Given the description of an element on the screen output the (x, y) to click on. 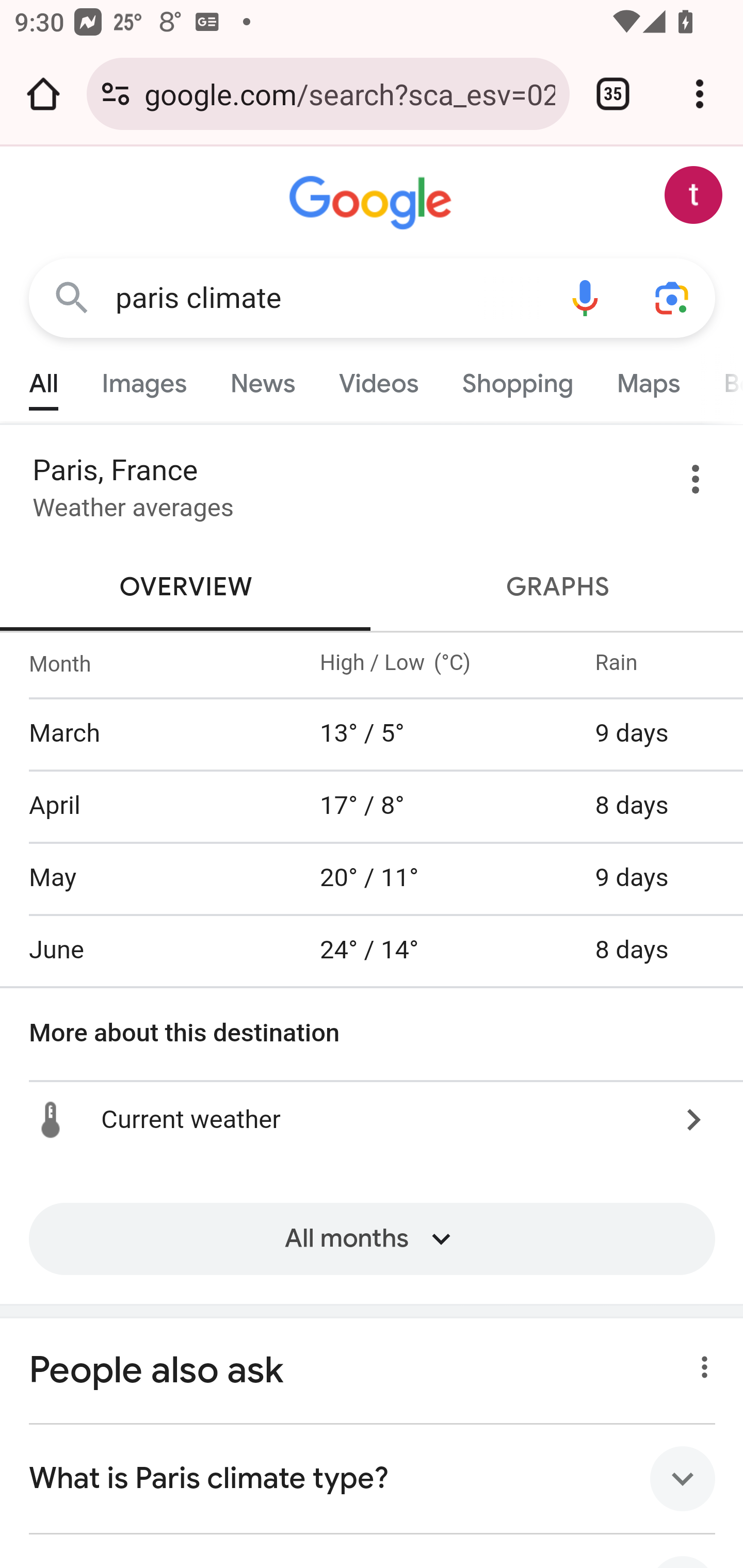
Open the home page (43, 93)
Connection is secure (115, 93)
Switch or close tabs (612, 93)
Customize and control Google Chrome (699, 93)
Google (372, 203)
Google Search (71, 296)
Search using your camera or photos (672, 296)
paris climate (328, 297)
Images (144, 378)
News (262, 378)
Videos (378, 378)
Shopping (516, 378)
Maps (647, 378)
Menu (695, 484)
OVERVIEW (186, 586)
GRAPHS (557, 586)
All months (371, 1253)
About this result (698, 1361)
What is Paris climate type? (372, 1479)
